Given the description of an element on the screen output the (x, y) to click on. 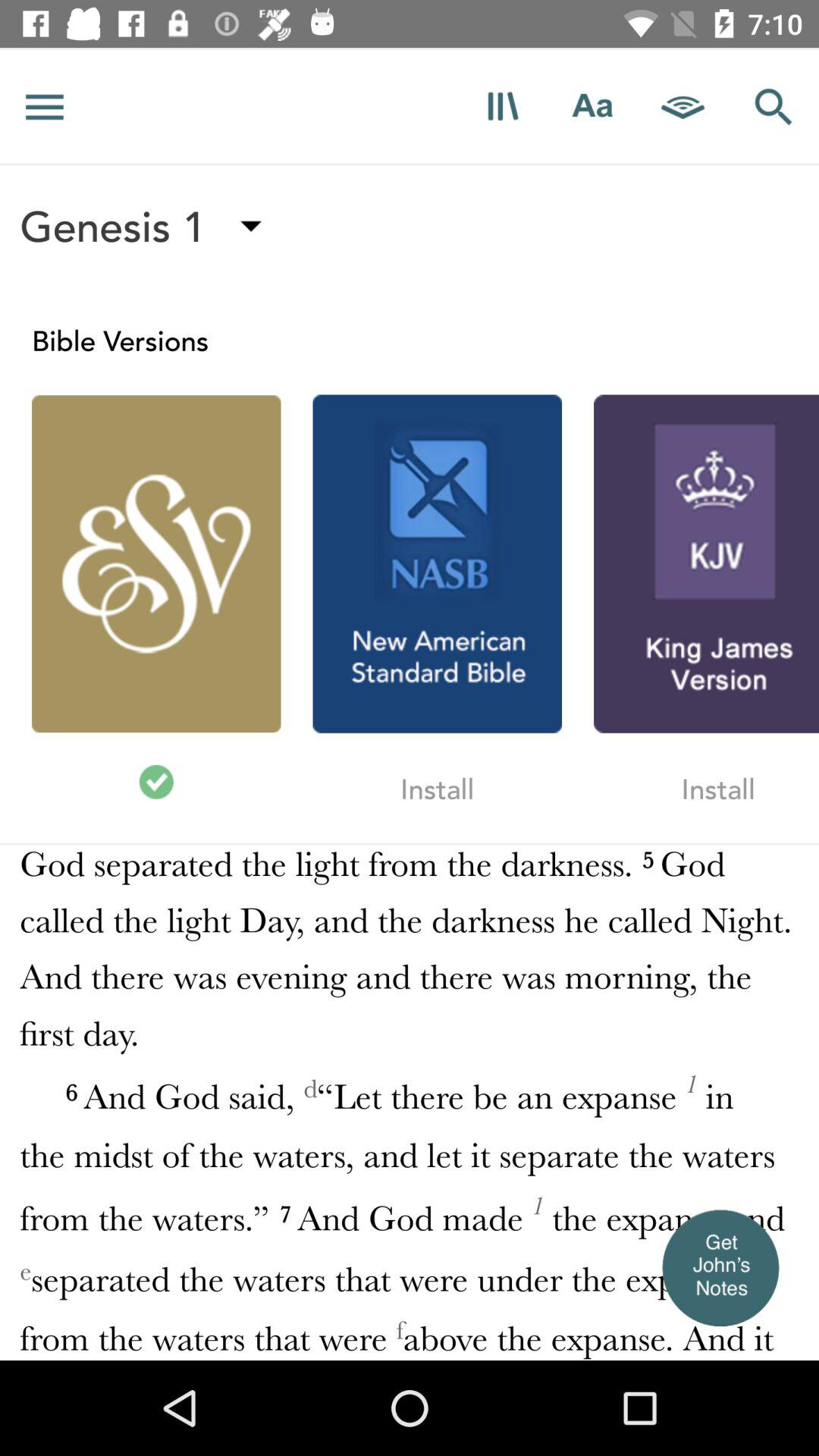
toggle menu (45, 106)
